Given the description of an element on the screen output the (x, y) to click on. 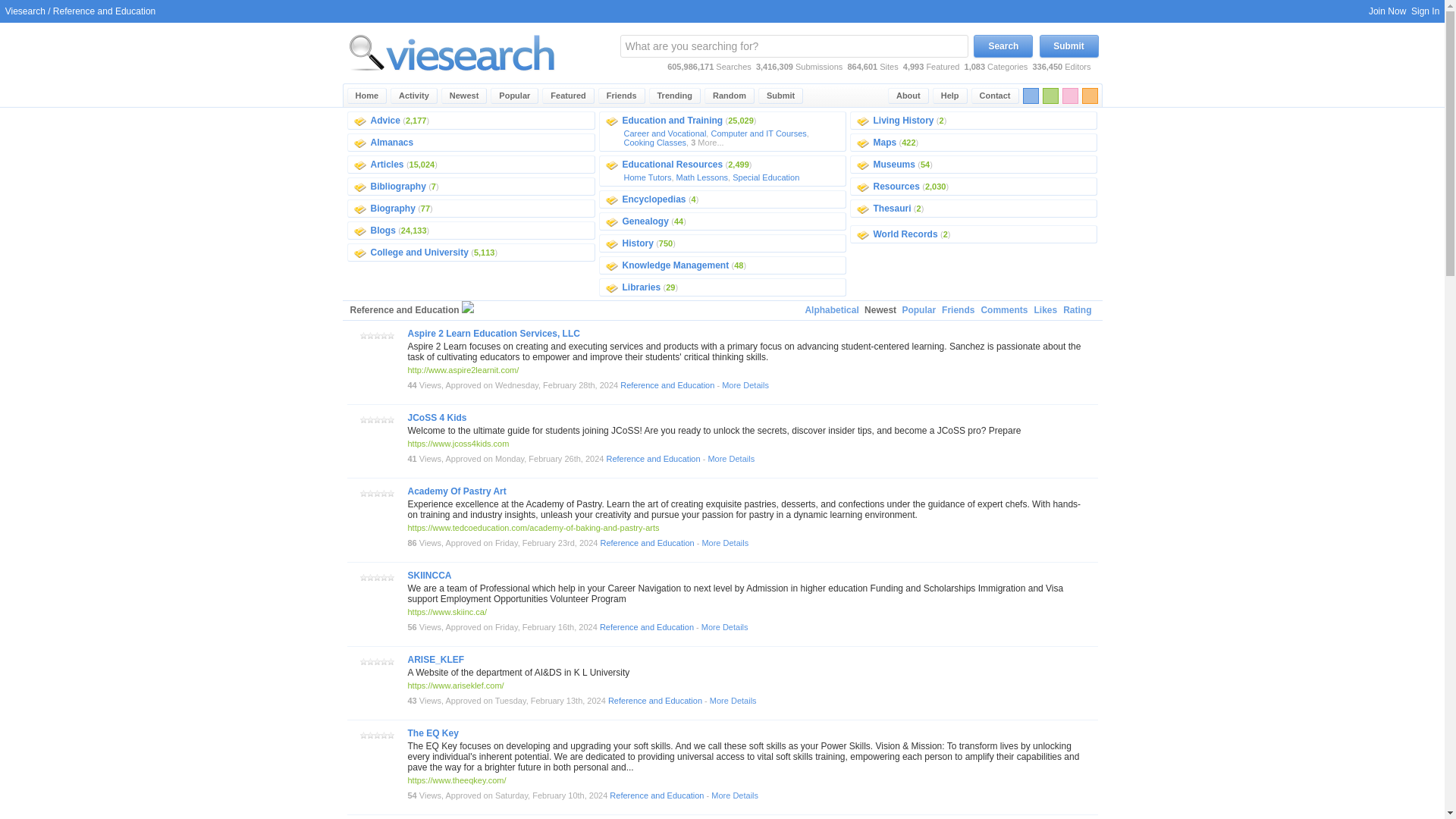
Computer and IT Courses (758, 133)
Join Now (1387, 10)
Trending search keywords on Viesearch (674, 95)
About (908, 95)
View a random site (729, 95)
Search (1003, 46)
Educational Resources (671, 163)
Viesearch - Human Powered Search Engine (452, 52)
Switch this page to pink (1069, 95)
College and University (418, 252)
